Given the description of an element on the screen output the (x, y) to click on. 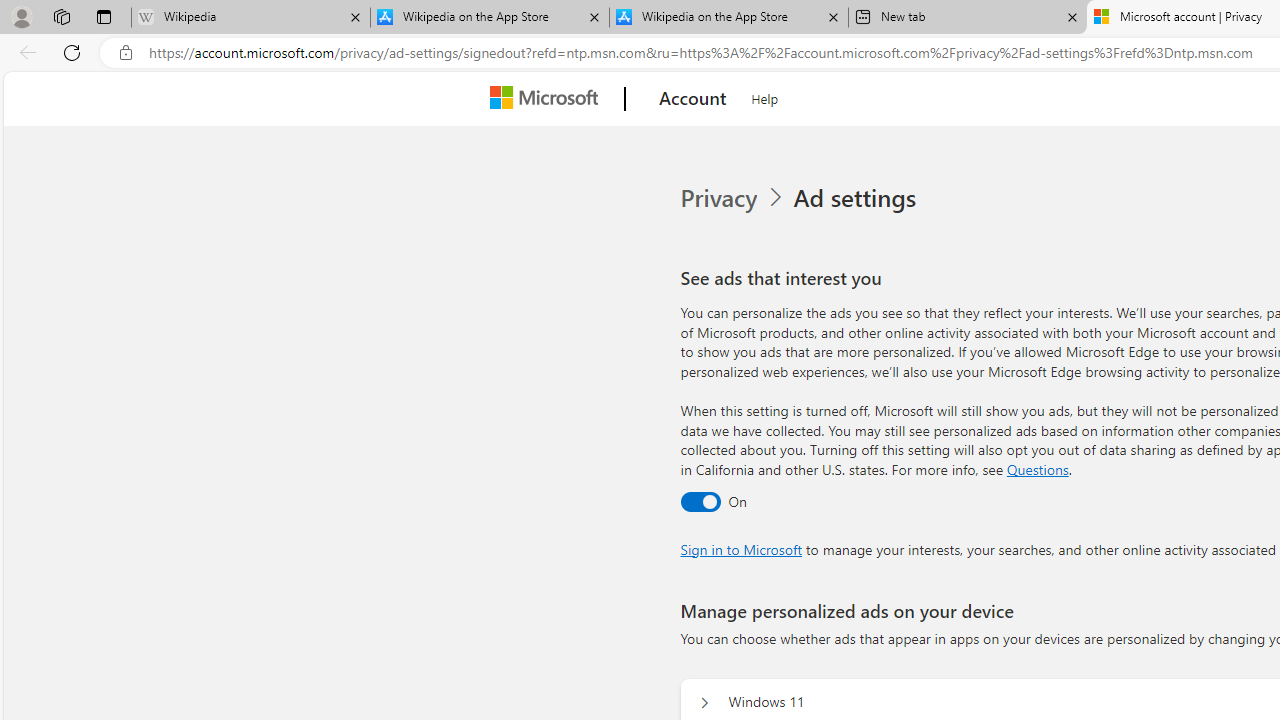
Account (692, 99)
